Given the description of an element on the screen output the (x, y) to click on. 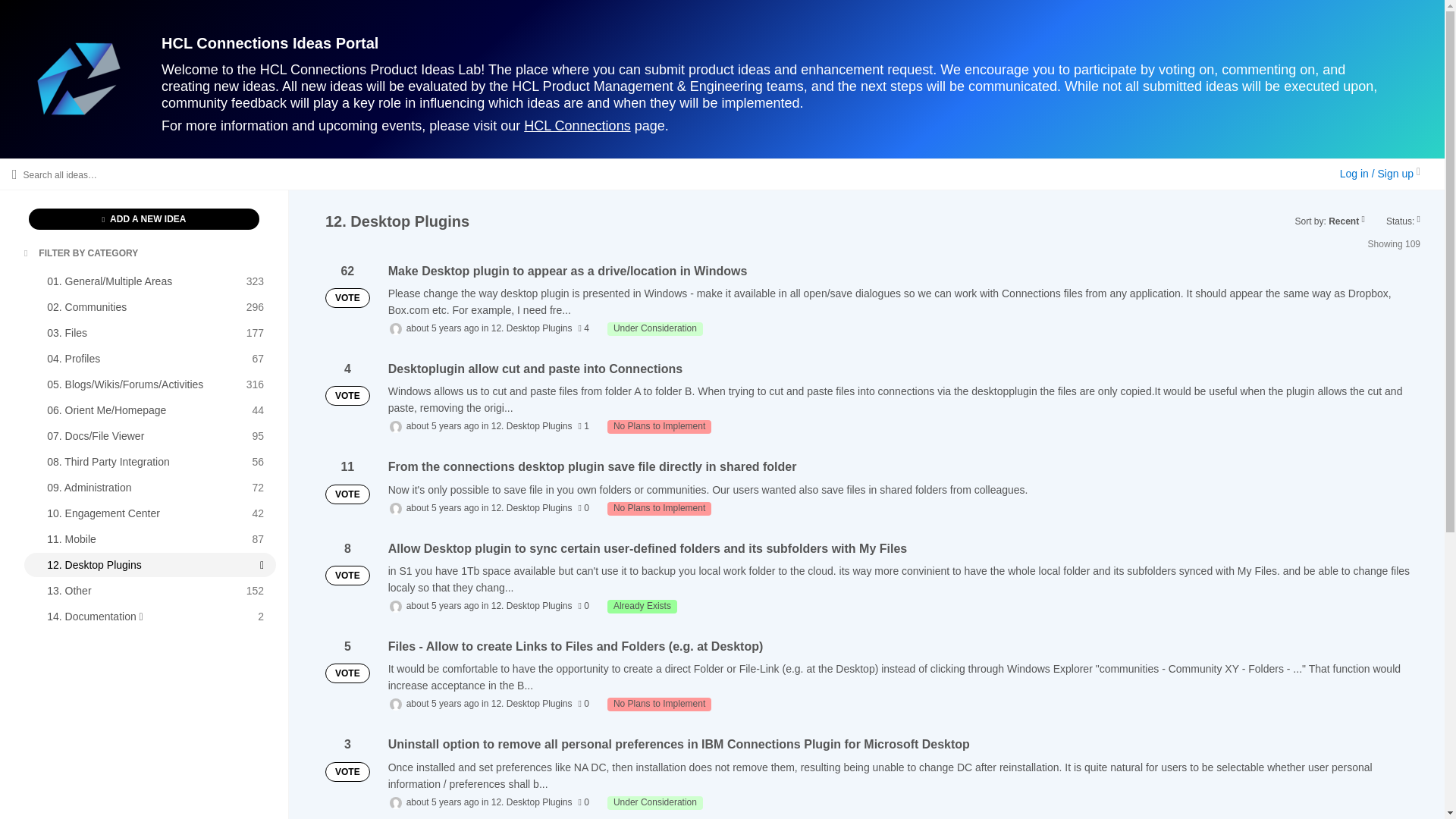
FILTER BY CATEGORY (81, 254)
HCL Connections (150, 590)
ADD A NEW IDEA (150, 513)
No Plans to Implement (150, 539)
VOTE (577, 125)
Already Exists (144, 219)
VOTE (659, 704)
